Given the description of an element on the screen output the (x, y) to click on. 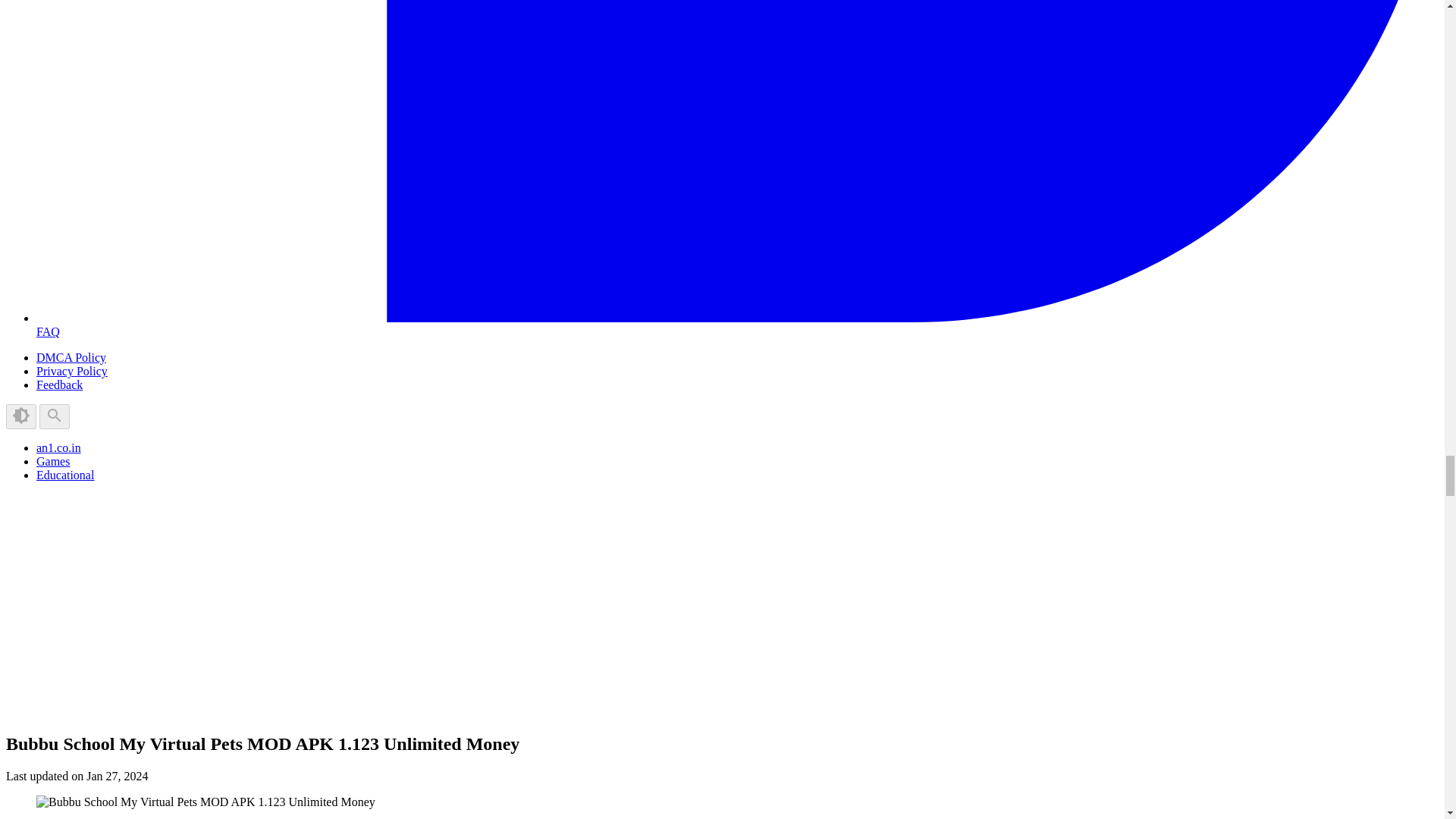
Feedback (59, 384)
Privacy Policy (71, 370)
DMCA Policy (71, 357)
